Given the description of an element on the screen output the (x, y) to click on. 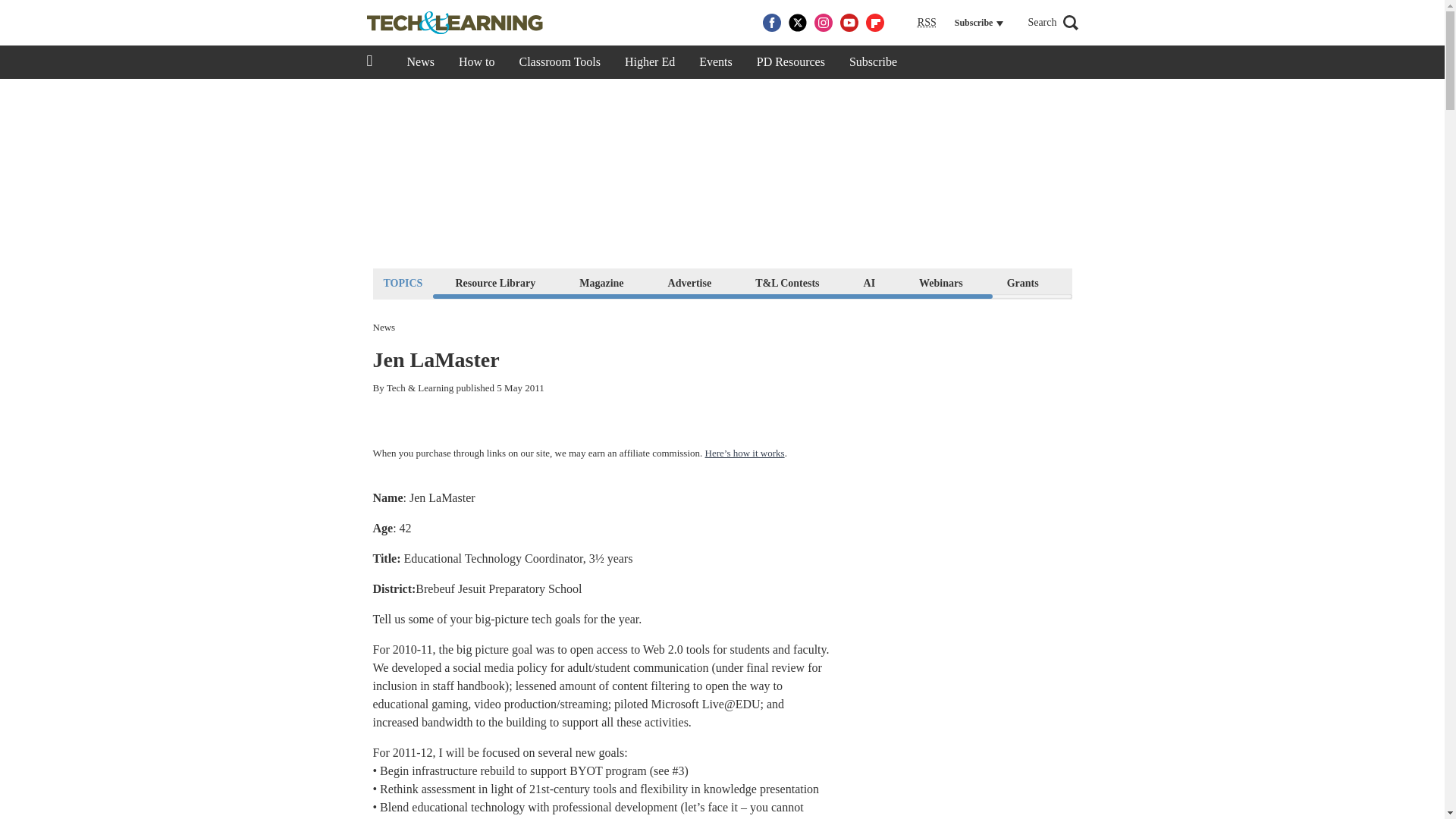
How to (476, 61)
Brebeuf Jesuit Preparatory School (497, 588)
Events (715, 61)
News (419, 61)
Higher Ed (649, 61)
Magazine (600, 282)
AI (869, 282)
Webinars (941, 282)
Really Simple Syndication (926, 21)
Resource Library (494, 282)
